Given the description of an element on the screen output the (x, y) to click on. 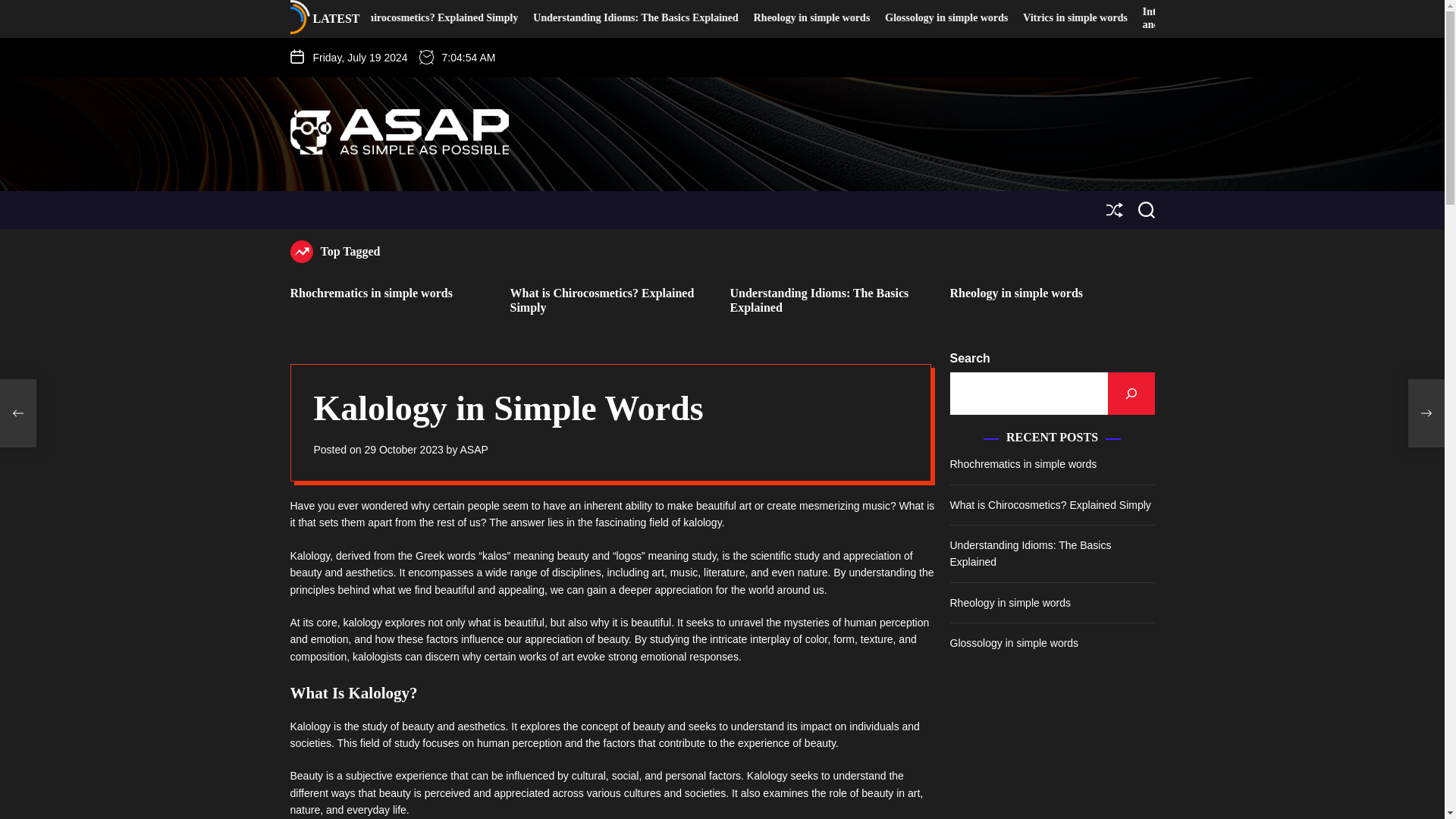
What is Chirocosmetics? Explained Simply (625, 18)
29 October 2023 (403, 449)
Rhochrematics in simple words (442, 18)
Rheology in simple words (1016, 292)
What is Chirocosmetics? Explained Simply (601, 299)
Rheology in simple words (1017, 18)
Understanding Idioms: The Basics Explained (841, 18)
Glossology in simple words (1152, 18)
Rhochrematics in simple words (370, 292)
ASAP (473, 449)
Understanding Idioms: The Basics Explained (818, 299)
